Given the description of an element on the screen output the (x, y) to click on. 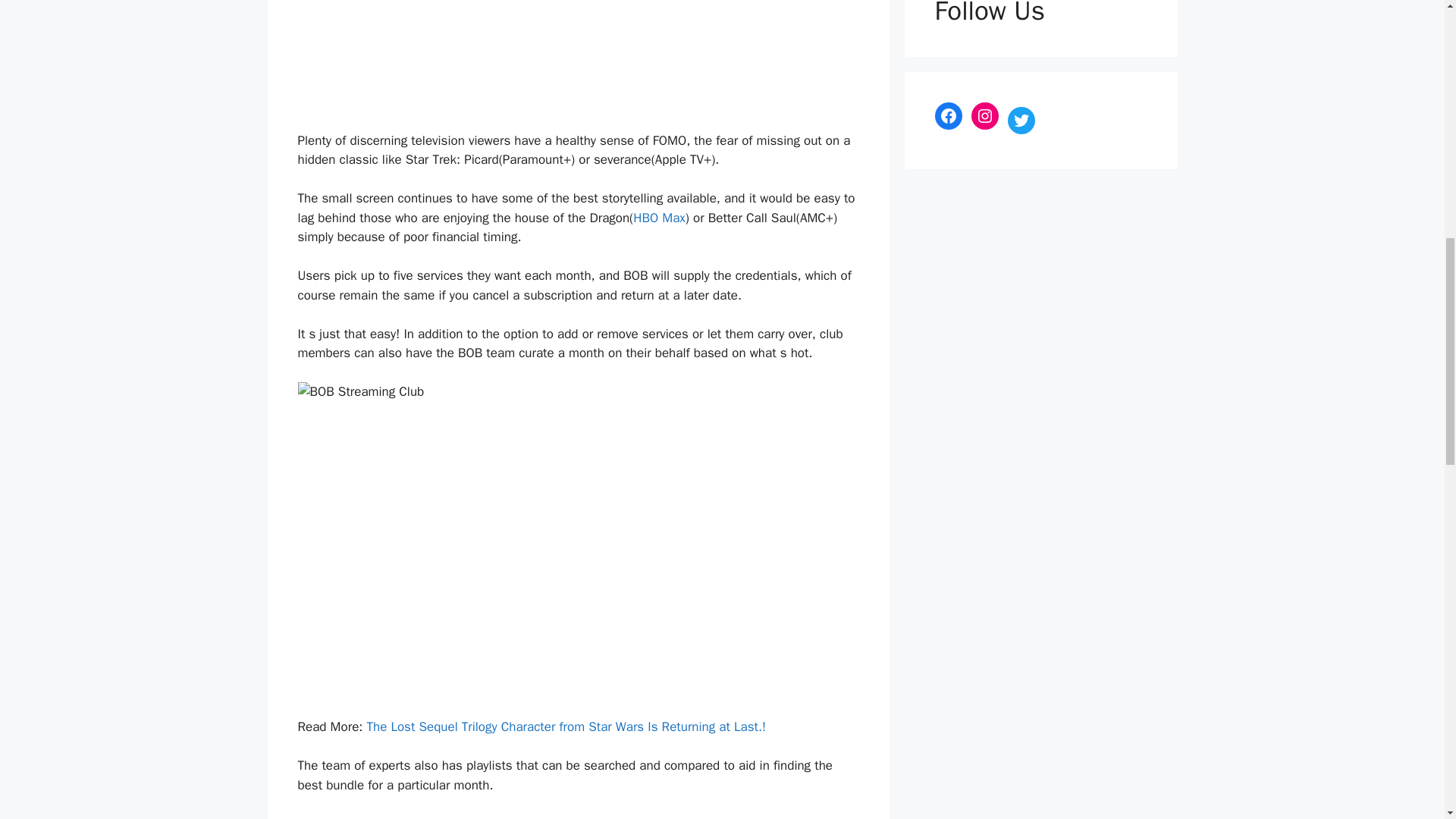
Facebook (947, 114)
Instagram (984, 114)
HBO Max (659, 217)
BOB Streaming Club (406, 817)
Twitter (1020, 119)
